Given the description of an element on the screen output the (x, y) to click on. 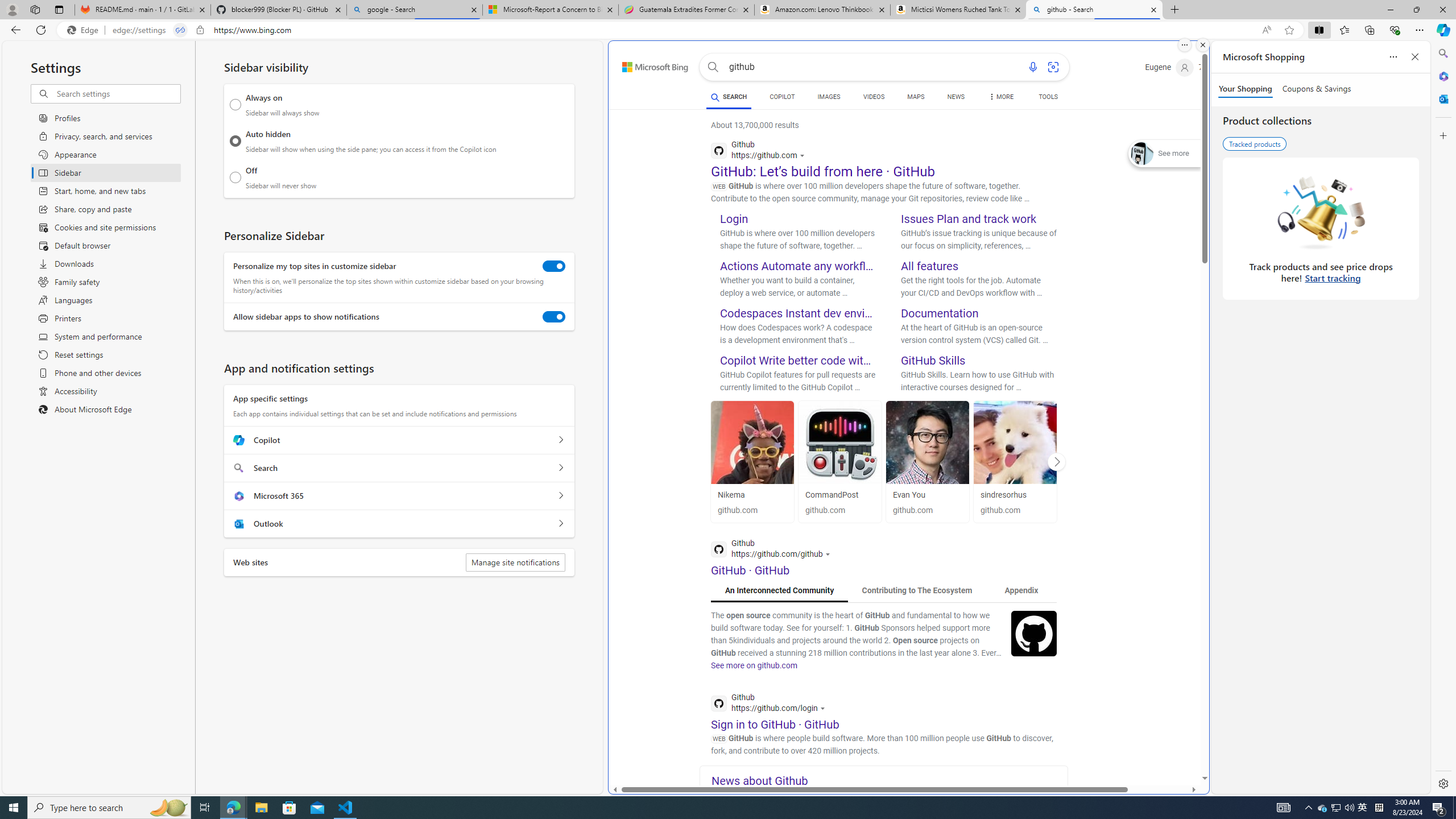
Github (770, 704)
Evan You (927, 494)
Eugene (1168, 67)
Documentation (939, 313)
Dropdown Menu (1000, 96)
CommandPost CommandPost github.com (838, 461)
